Given the description of an element on the screen output the (x, y) to click on. 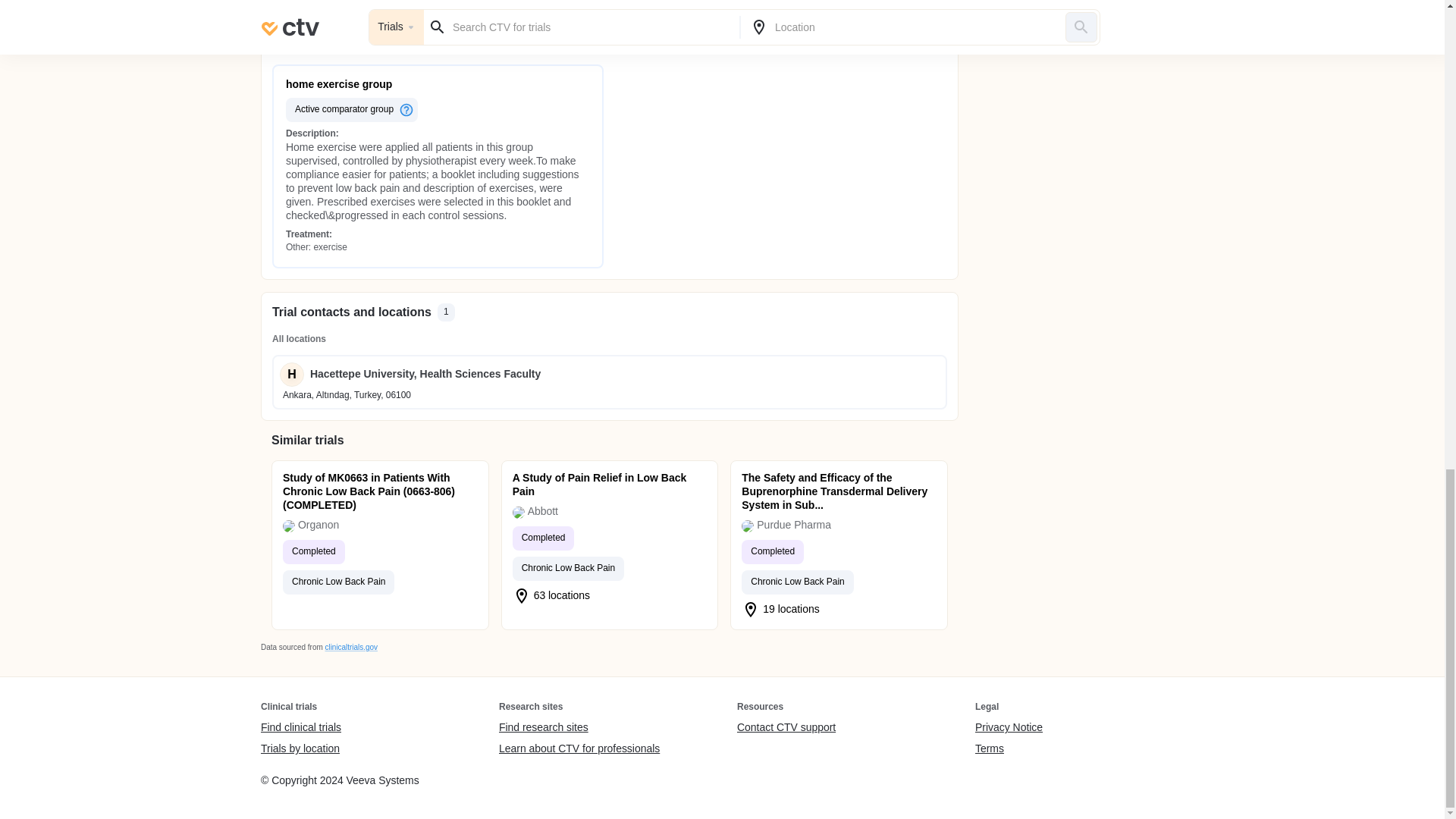
Find research sites (579, 727)
Privacy Notice (1008, 727)
Terms (1008, 748)
Contact CTV support (785, 727)
Find clinical trials (300, 727)
clinicaltrials.gov (350, 646)
Trials by location (300, 748)
Learn about CTV for professionals (579, 748)
